Given the description of an element on the screen output the (x, y) to click on. 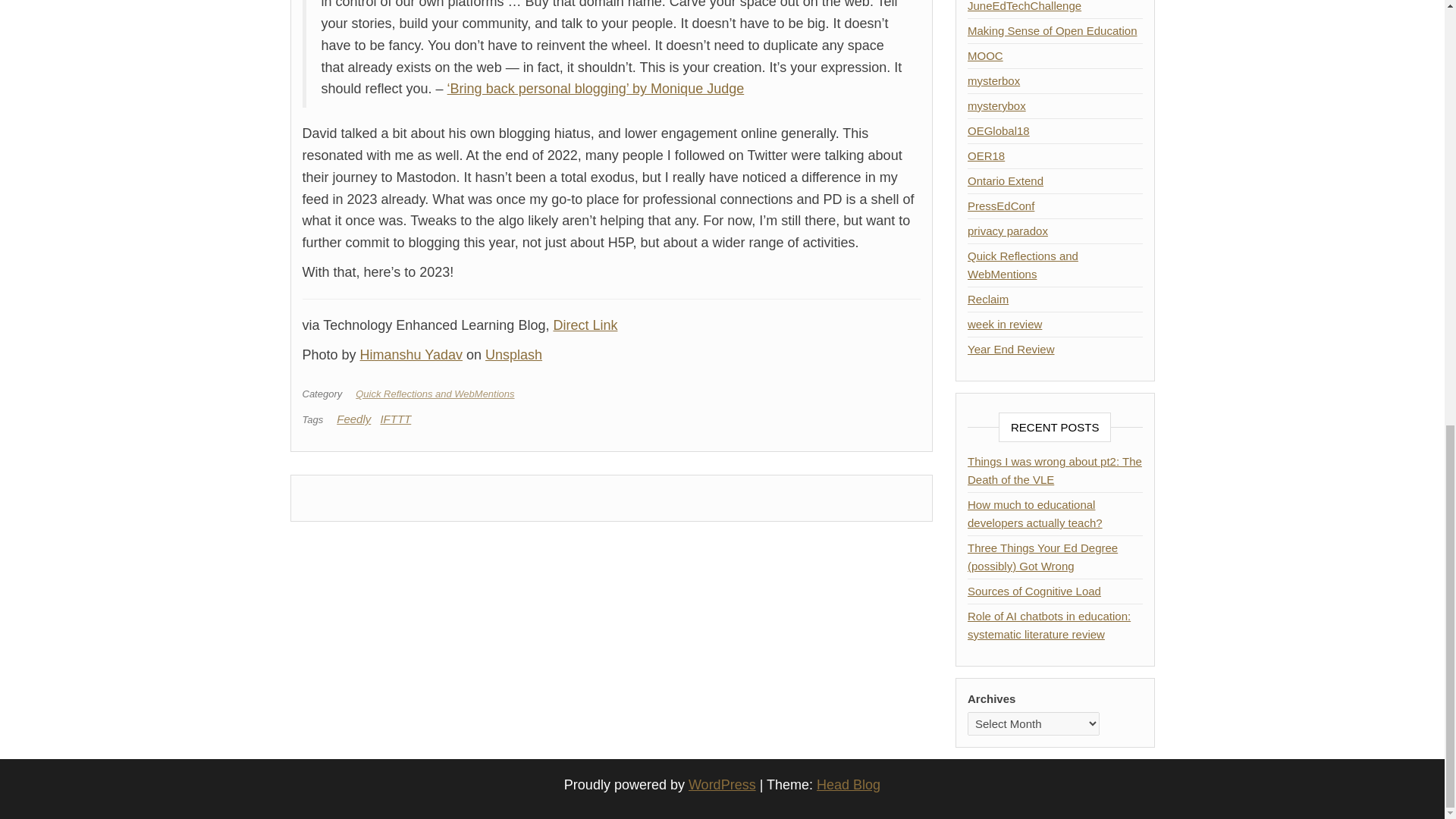
OEGlobal18 (998, 130)
Unsplash (512, 354)
Direct Link (585, 324)
mysterybox (997, 105)
Ontario Extend (1005, 180)
Feedly (353, 418)
week in review (1005, 323)
Quick Reflections and WebMentions (1023, 264)
privacy paradox (1008, 230)
IFTTT (395, 418)
mysterbox (994, 80)
PressEdConf (1000, 205)
Year End Review (1011, 349)
Quick Reflections and WebMentions (437, 393)
Reclaim (988, 298)
